Given the description of an element on the screen output the (x, y) to click on. 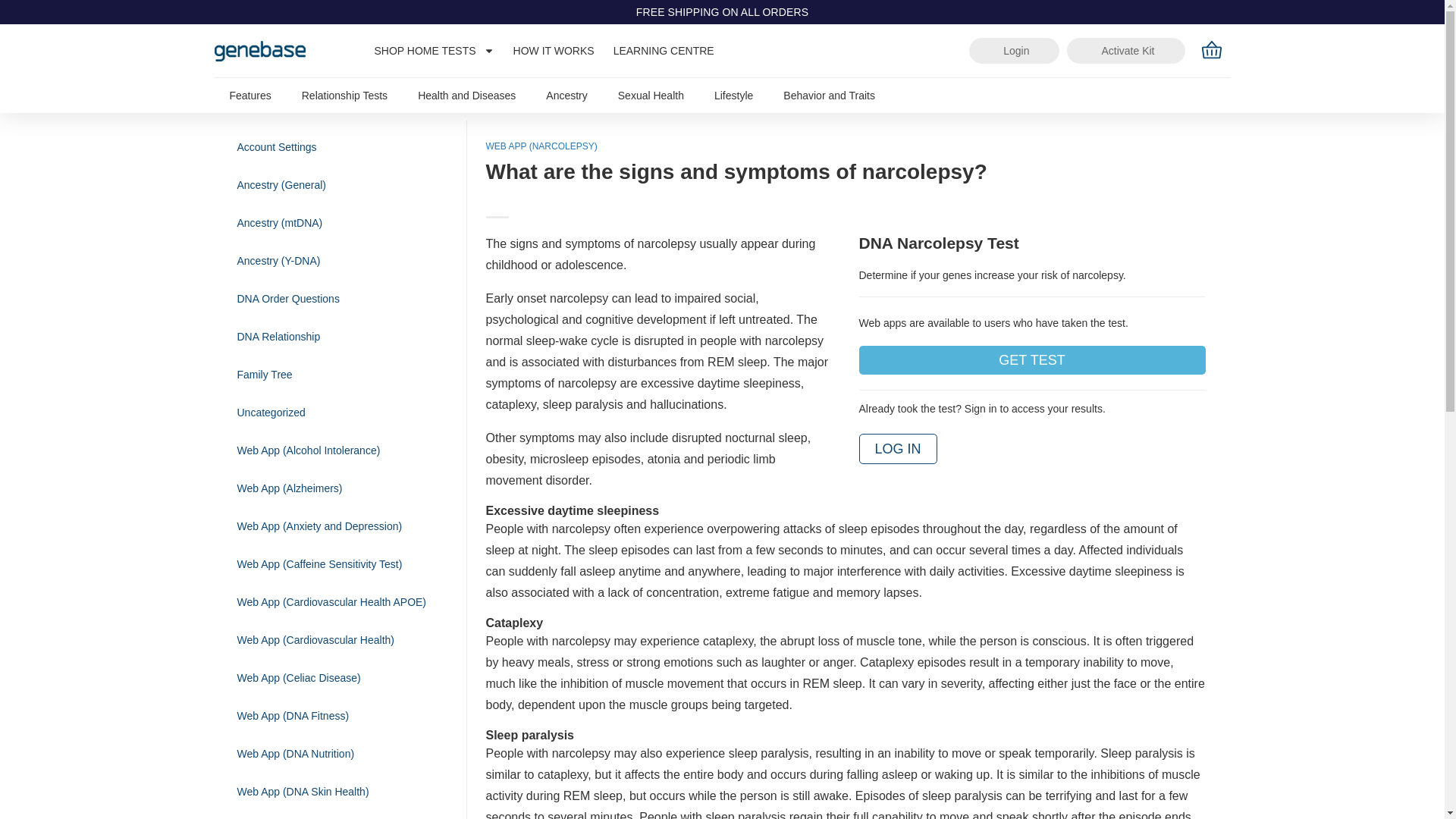
SHOP HOME TESTS (434, 50)
Opens a widget where you can find more information (1386, 792)
